Given the description of an element on the screen output the (x, y) to click on. 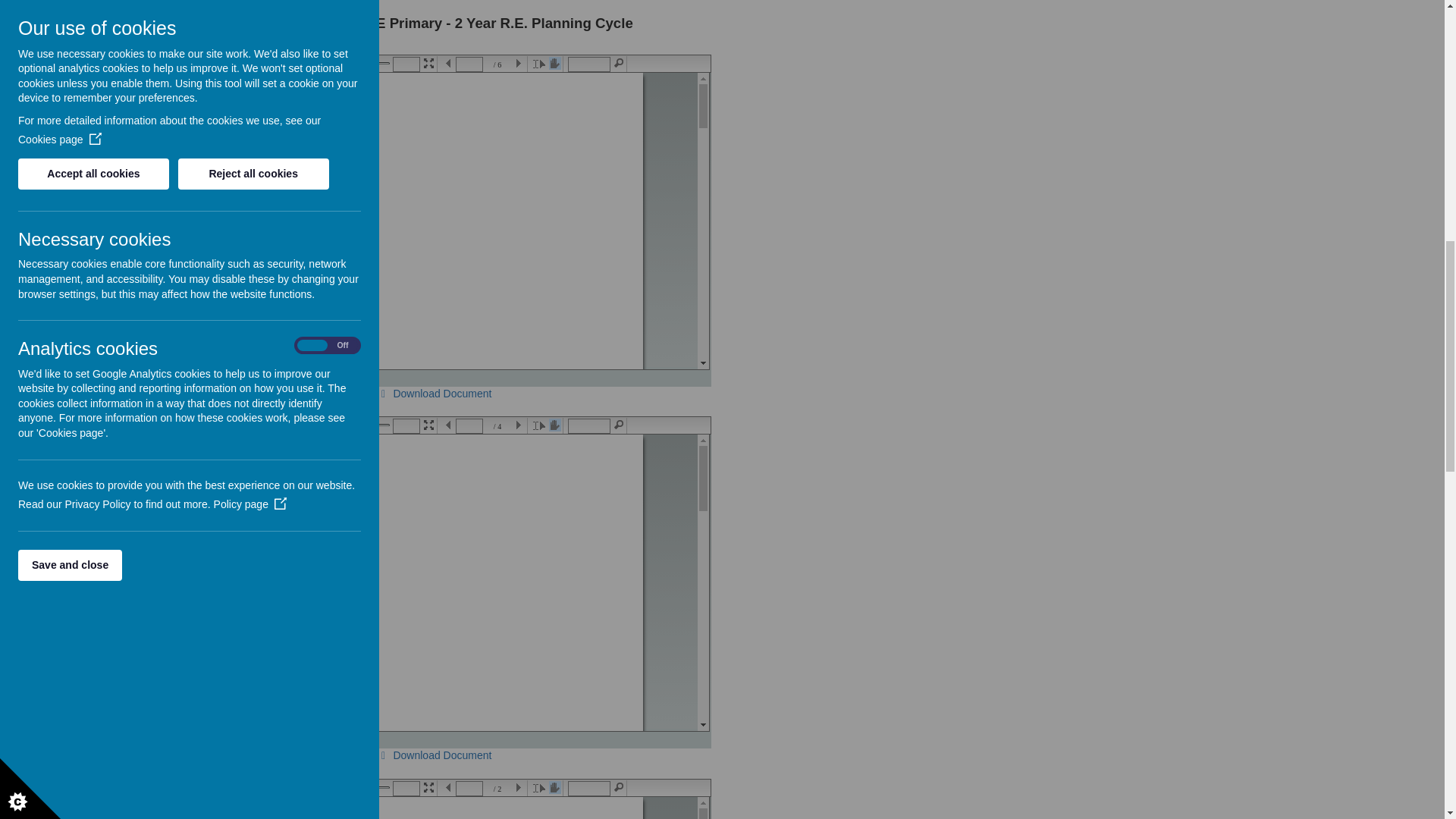
Print (167, 62)
Print (182, 63)
